Given the description of an element on the screen output the (x, y) to click on. 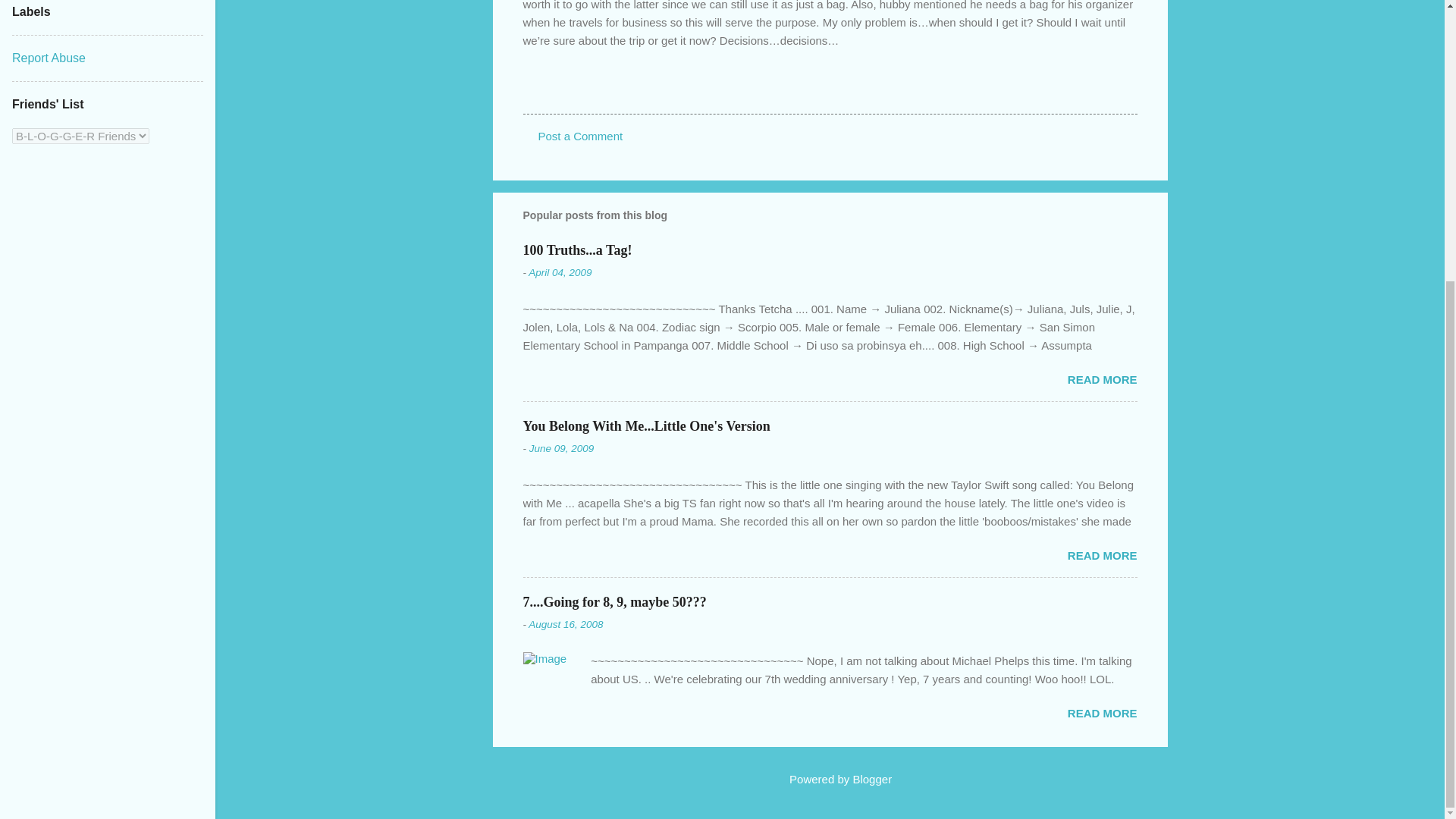
June 09, 2009 (561, 448)
permanent link (559, 272)
Post a Comment (580, 135)
READ MORE (1102, 379)
April 04, 2009 (559, 272)
READ MORE (1102, 712)
READ MORE (1102, 554)
7....Going for 8, 9, maybe 50??? (614, 601)
Powered by Blogger (829, 779)
You Belong With Me...Little One's Version (646, 426)
